Given the description of an element on the screen output the (x, y) to click on. 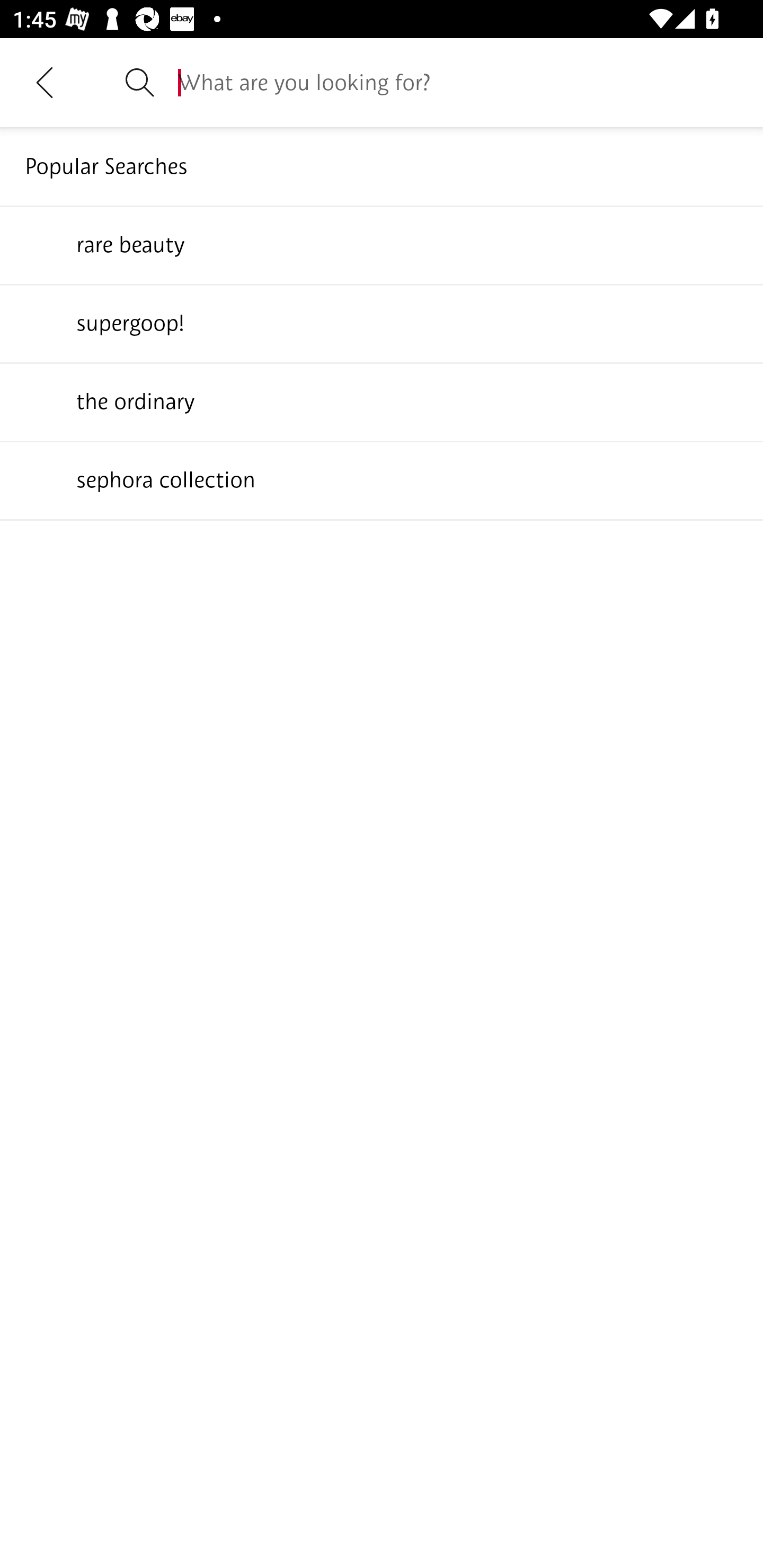
Navigate up (44, 82)
What are you looking for? (457, 82)
rare beauty (381, 244)
supergoop! (381, 322)
the ordinary (381, 401)
sephora collection (381, 479)
